Given the description of an element on the screen output the (x, y) to click on. 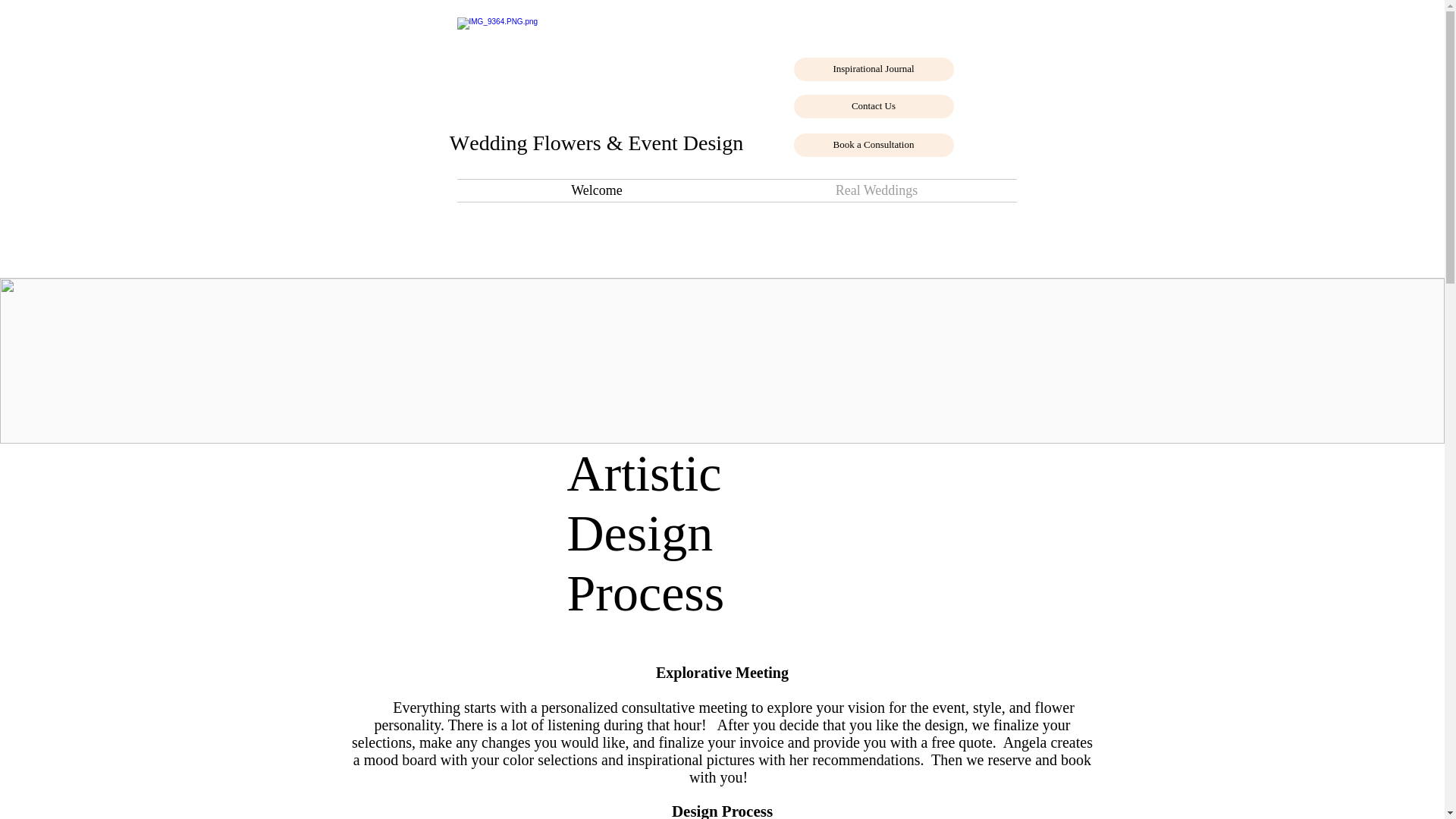
Real Weddings (876, 190)
Welcome (596, 190)
Inspirational Journal (873, 69)
Contact Us (873, 106)
Book a Consultation (873, 145)
